Given the description of an element on the screen output the (x, y) to click on. 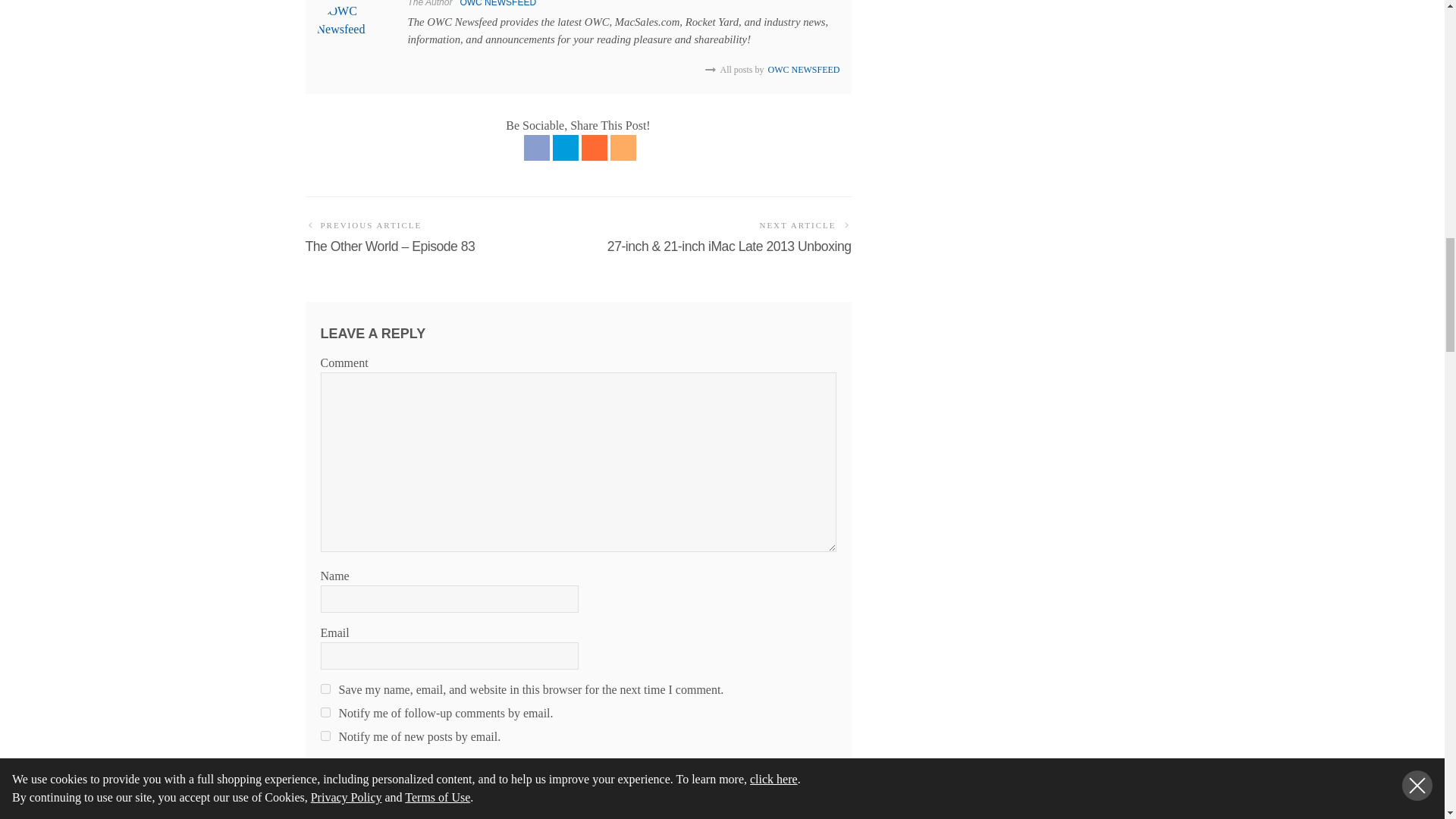
subscribe (325, 736)
Post Comment (373, 780)
subscribe (325, 712)
yes (325, 688)
